Given the description of an element on the screen output the (x, y) to click on. 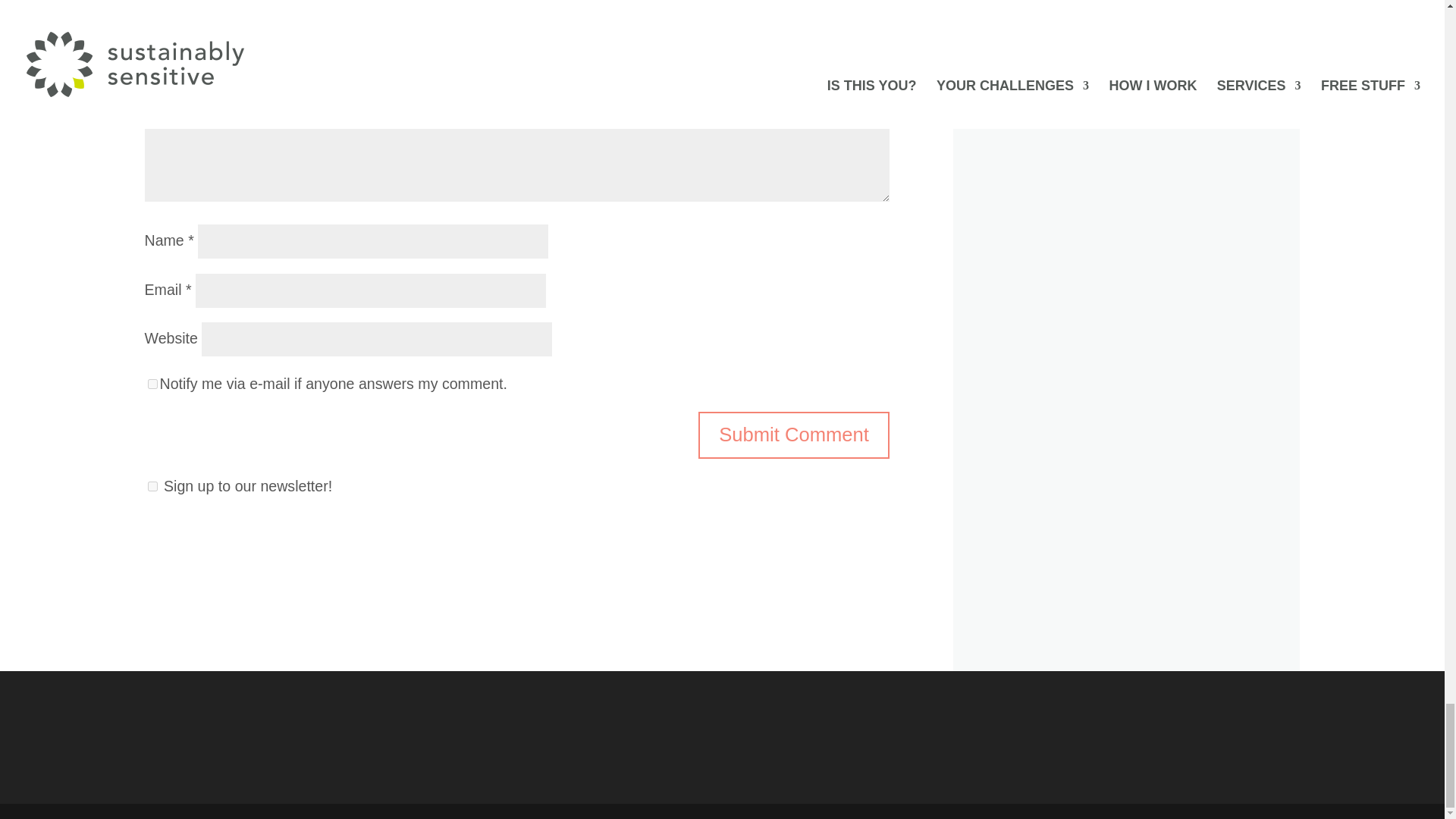
Submit Comment (793, 435)
on (152, 384)
1 (152, 486)
